Given the description of an element on the screen output the (x, y) to click on. 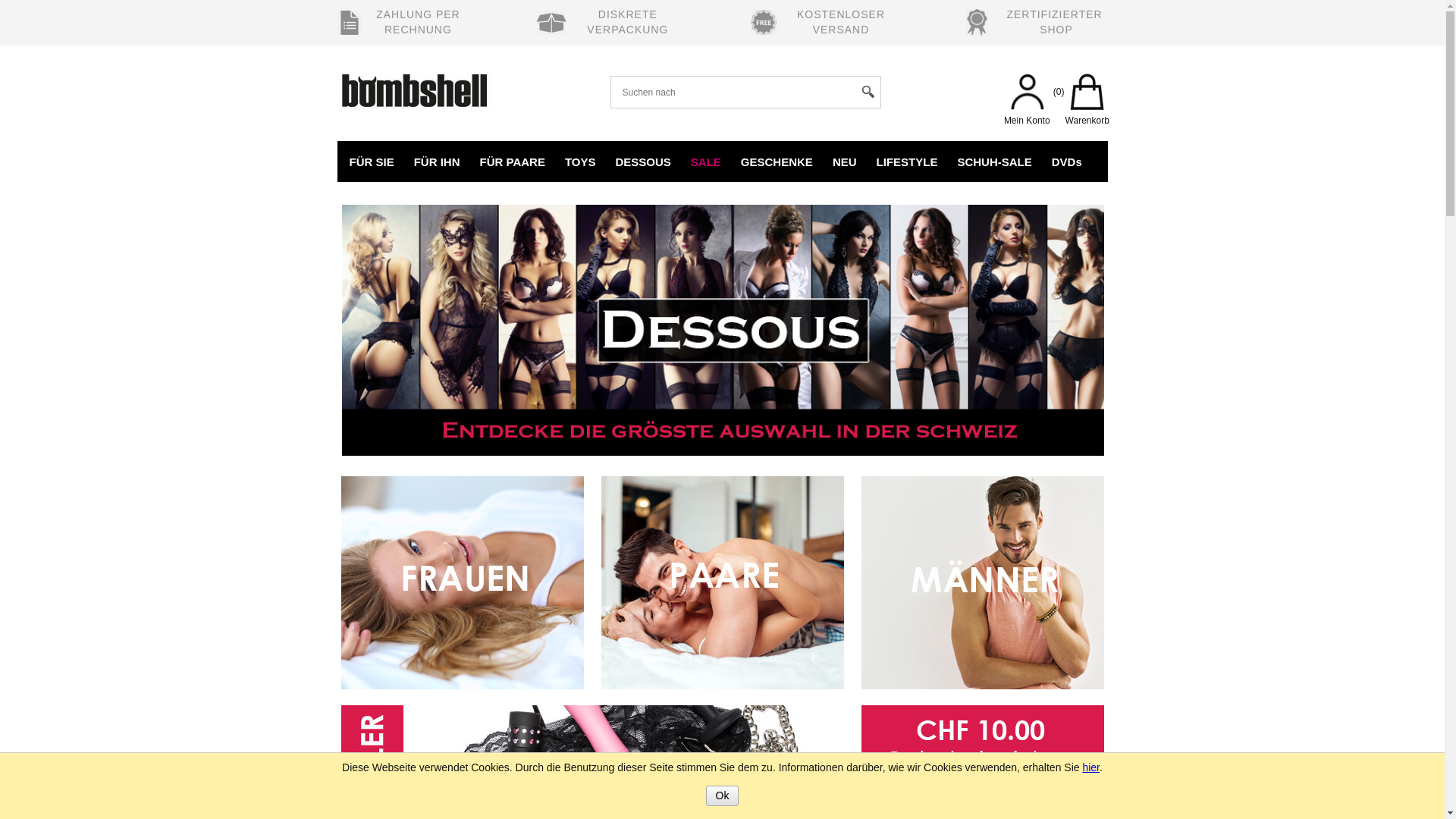
Suche starten Element type: hover (867, 92)
Warenkorb Element type: text (1087, 106)
LIFESTYLE Element type: text (907, 160)
DVDs Element type: text (1066, 160)
Warenkorb Element type: hover (1086, 93)
TOYS Element type: text (580, 160)
SALE Element type: text (705, 160)
Newsletter Element type: hover (982, 740)
SCHUH-SALE Element type: text (993, 160)
Mein Konto Element type: hover (1027, 93)
DESSOUS Element type: text (642, 160)
Mein Konto Element type: text (1027, 106)
Bombshell Erotikshop Element type: hover (419, 82)
Ok Element type: text (722, 795)
NEU Element type: text (844, 160)
Toys fuer Sie Element type: hover (462, 582)
GESCHENKE Element type: text (776, 160)
hier Element type: text (1090, 767)
